Given the description of an element on the screen output the (x, y) to click on. 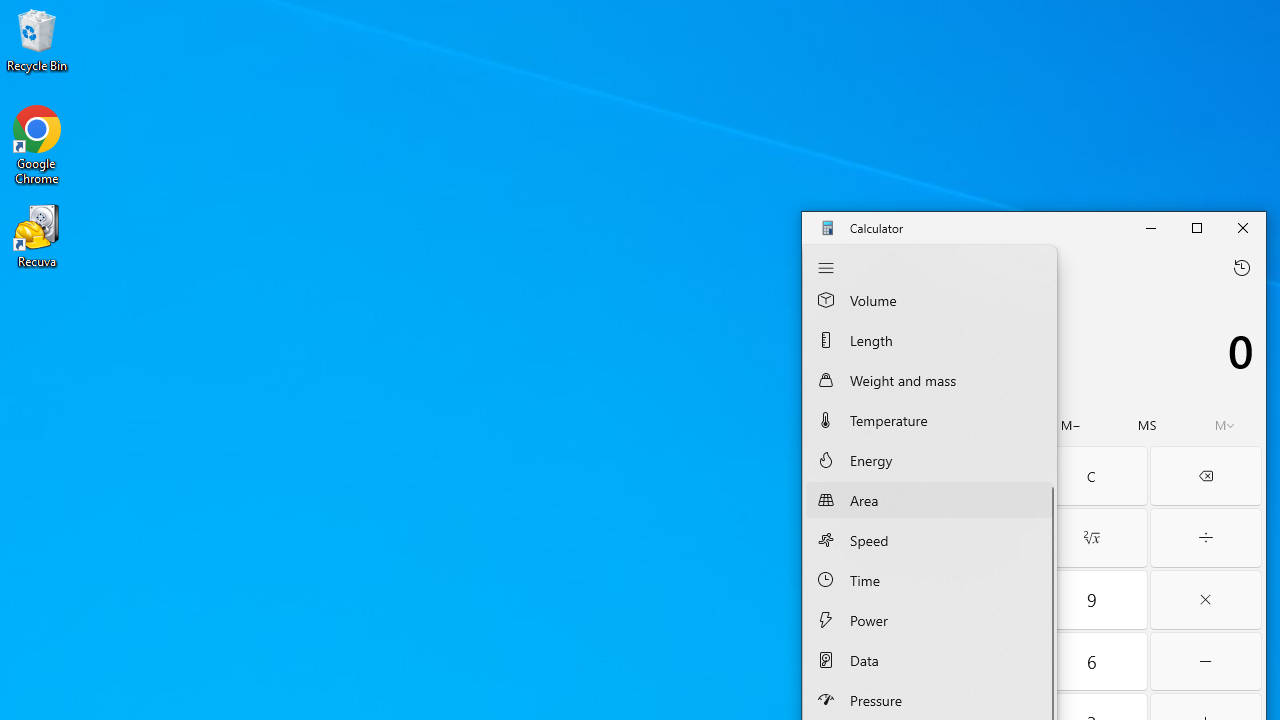
Four (862, 661)
Area Converter (929, 499)
Vertical Small Decrease (1050, 294)
Length Converter (929, 339)
Maximize Calculator (1196, 227)
Square (976, 538)
Volume Converter (929, 303)
Six (1091, 661)
Speed Converter (929, 540)
Multiply by (1205, 600)
Pressure Converter (929, 699)
